Given the description of an element on the screen output the (x, y) to click on. 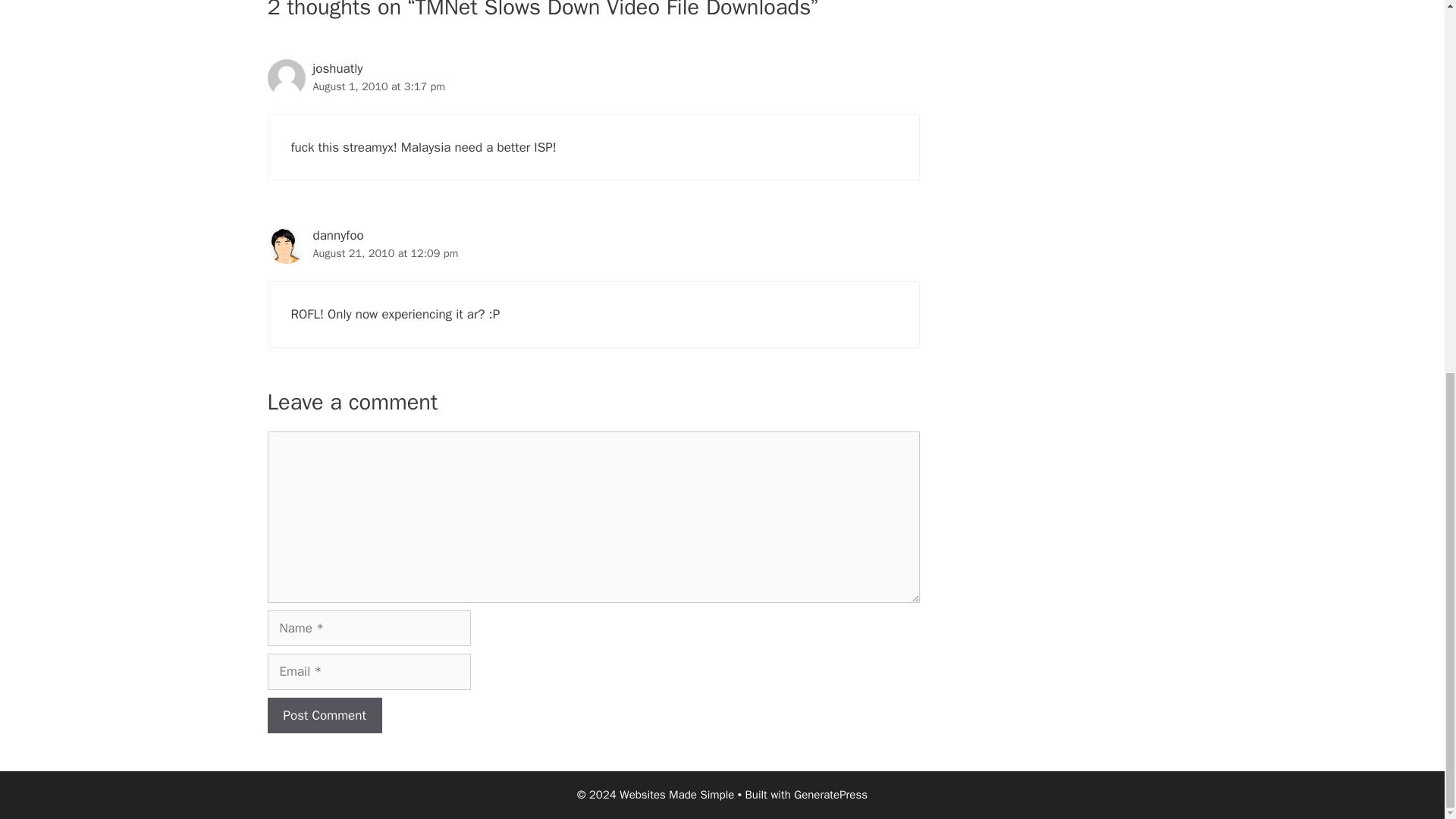
Post Comment (323, 715)
GeneratePress (830, 794)
Post Comment (323, 715)
August 21, 2010 at 12:09 pm (385, 253)
August 1, 2010 at 3:17 pm (379, 86)
